Given the description of an element on the screen output the (x, y) to click on. 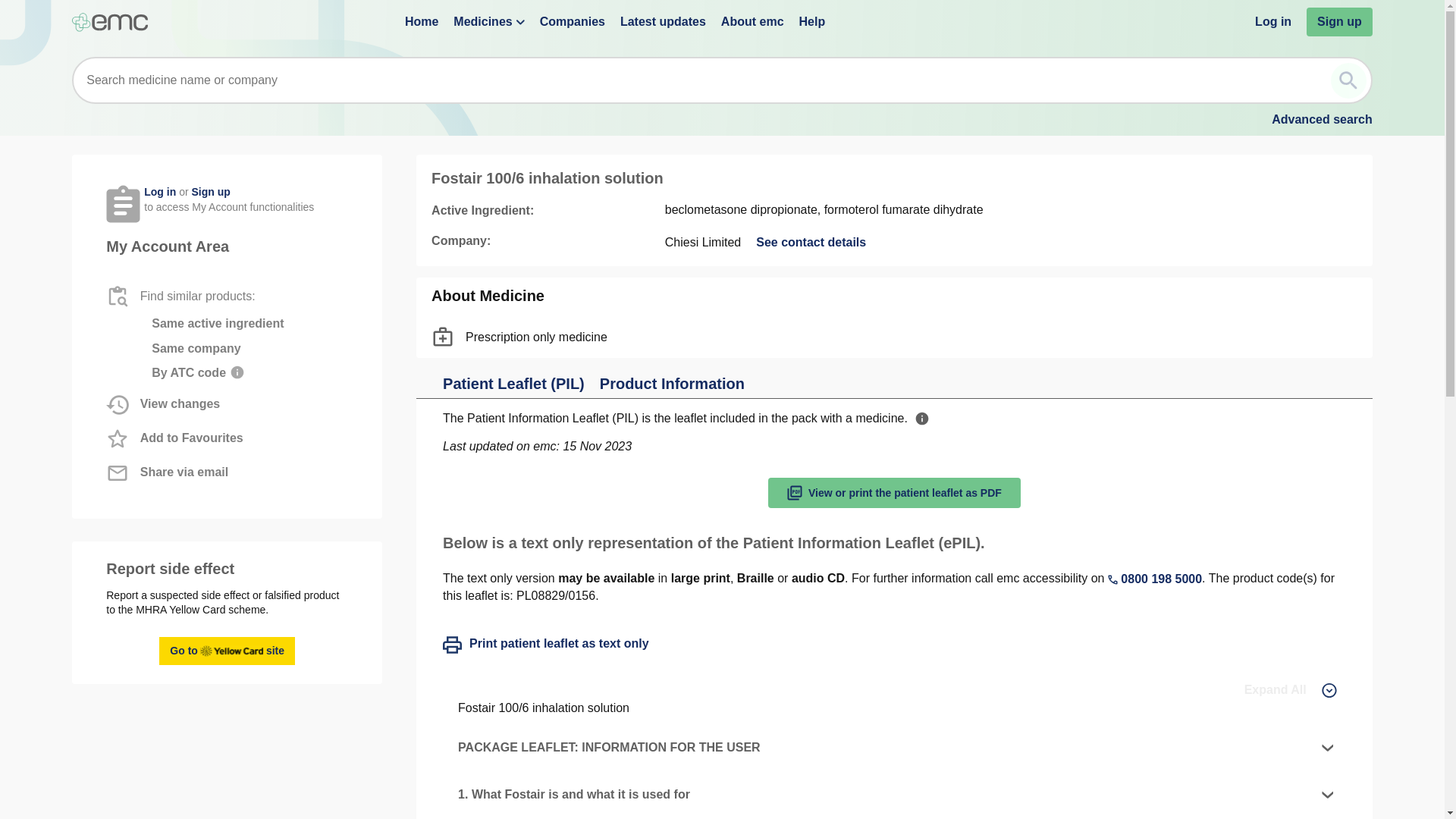
Home (421, 21)
Latest updates (663, 21)
See contact details (810, 242)
Sign up (1339, 21)
Log in (1273, 21)
Print patient leaflet as text only (545, 644)
Advanced search (1322, 119)
Expand All (1290, 690)
Companies (572, 21)
emc Search (1347, 80)
View or print the patient leaflet as PDF (226, 651)
Link to Chiesi Limited details (894, 492)
Log in (810, 242)
0800 198 5000 (160, 191)
